Given the description of an element on the screen output the (x, y) to click on. 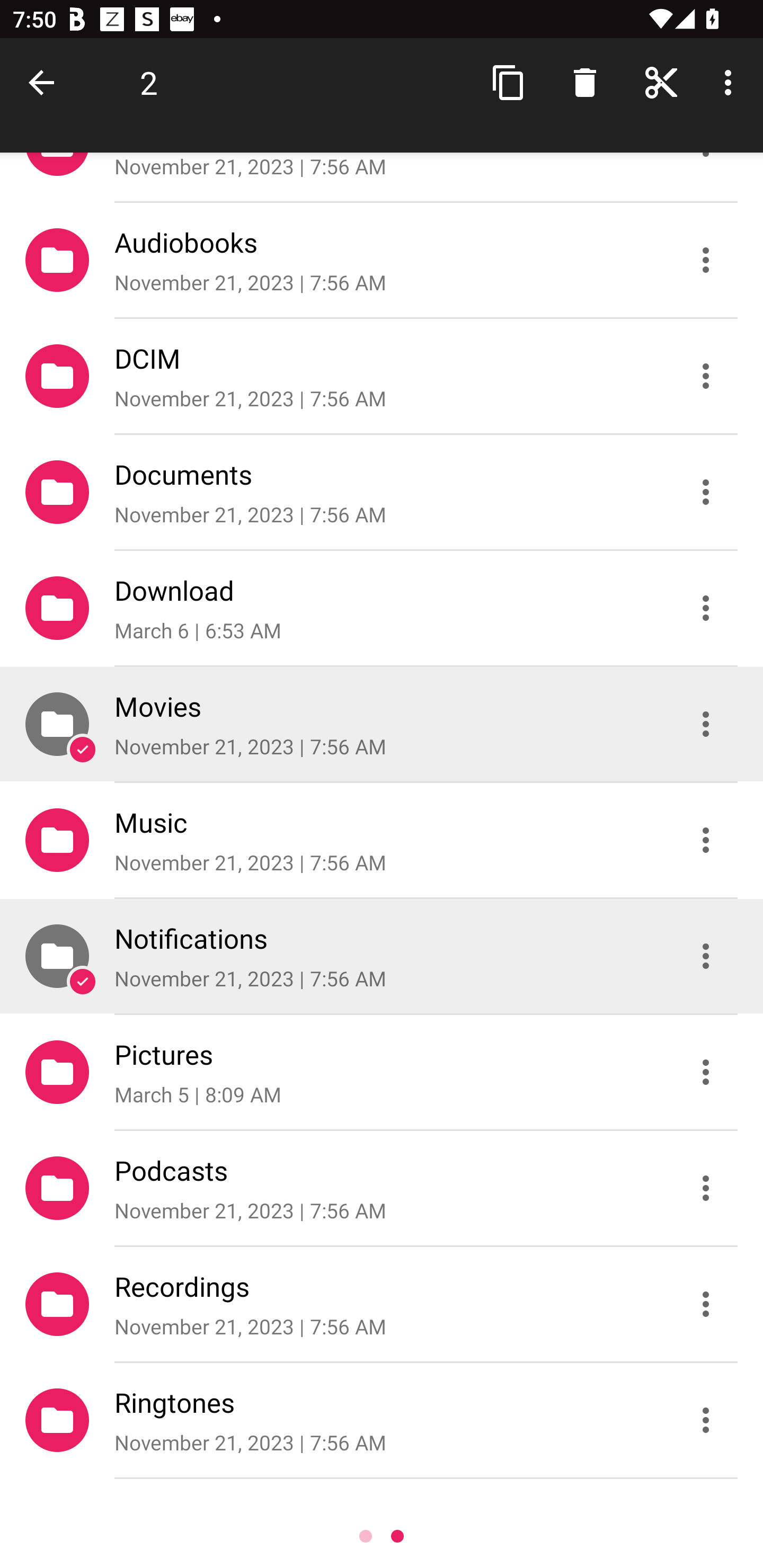
2 (148, 82)
Done (44, 81)
Copy (508, 81)
Delete (585, 81)
Cut (661, 81)
More options (731, 81)
Audiobooks November 21, 2023 | 7:56 AM (381, 259)
DCIM November 21, 2023 | 7:56 AM (381, 375)
Documents November 21, 2023 | 7:56 AM (381, 491)
Download March 6 | 6:53 AM (381, 607)
Movies November 21, 2023 | 7:56 AM (381, 723)
Music November 21, 2023 | 7:56 AM (381, 839)
Notifications November 21, 2023 | 7:56 AM (381, 955)
Pictures March 5 | 8:09 AM (381, 1071)
Podcasts November 21, 2023 | 7:56 AM (381, 1187)
Recordings November 21, 2023 | 7:56 AM (381, 1303)
Ringtones November 21, 2023 | 7:56 AM (381, 1419)
